Given the description of an element on the screen output the (x, y) to click on. 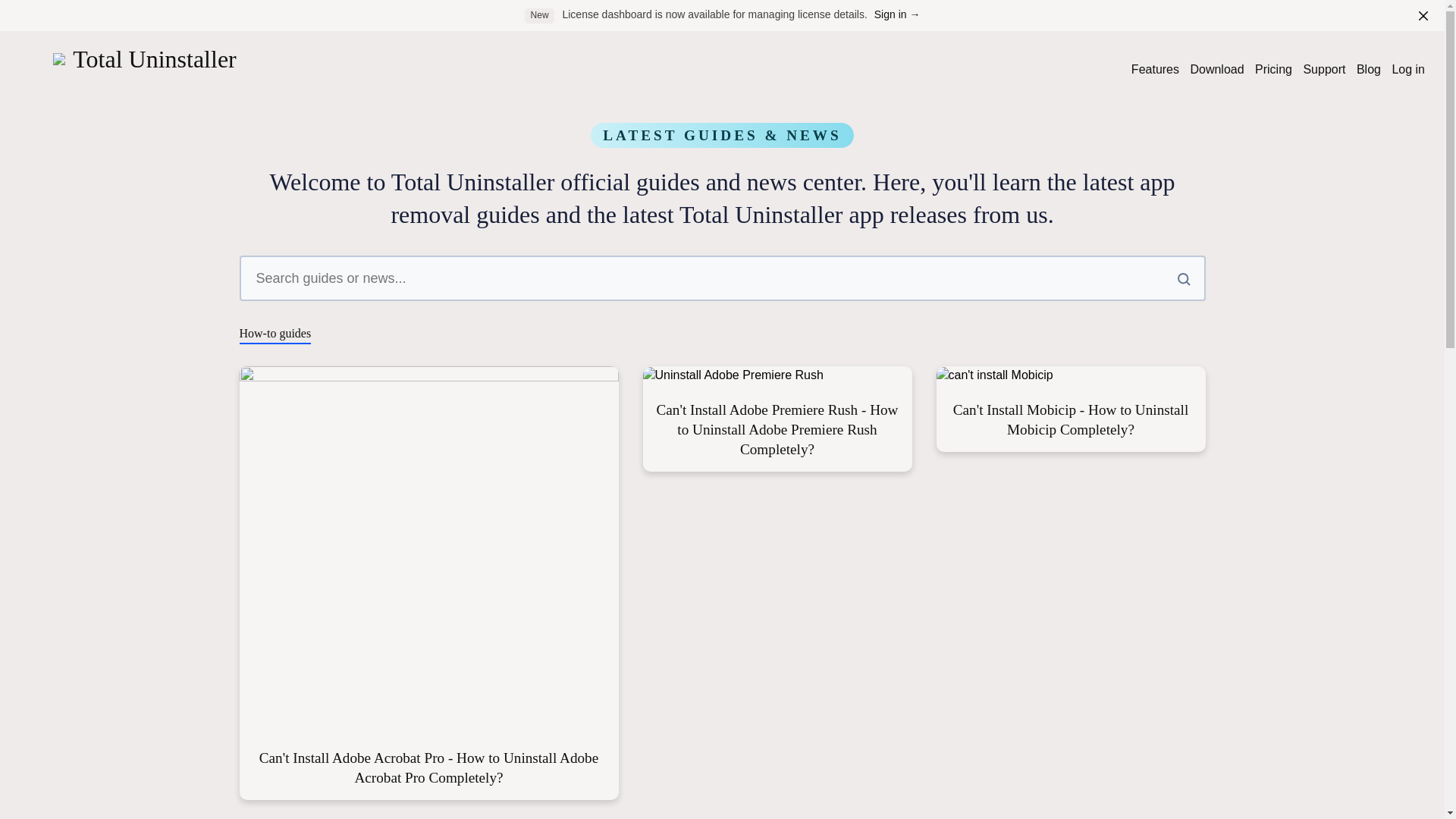
Blog (1368, 69)
Total Uninstaller (144, 59)
Total Uninstaller (144, 59)
Download (1216, 69)
Log in (1408, 69)
Can't Install Mobicip - How to Uninstall Mobicip Completely? (1070, 419)
Pricing (1273, 69)
Support (1324, 69)
Features (1155, 69)
How-to guides (275, 334)
